Given the description of an element on the screen output the (x, y) to click on. 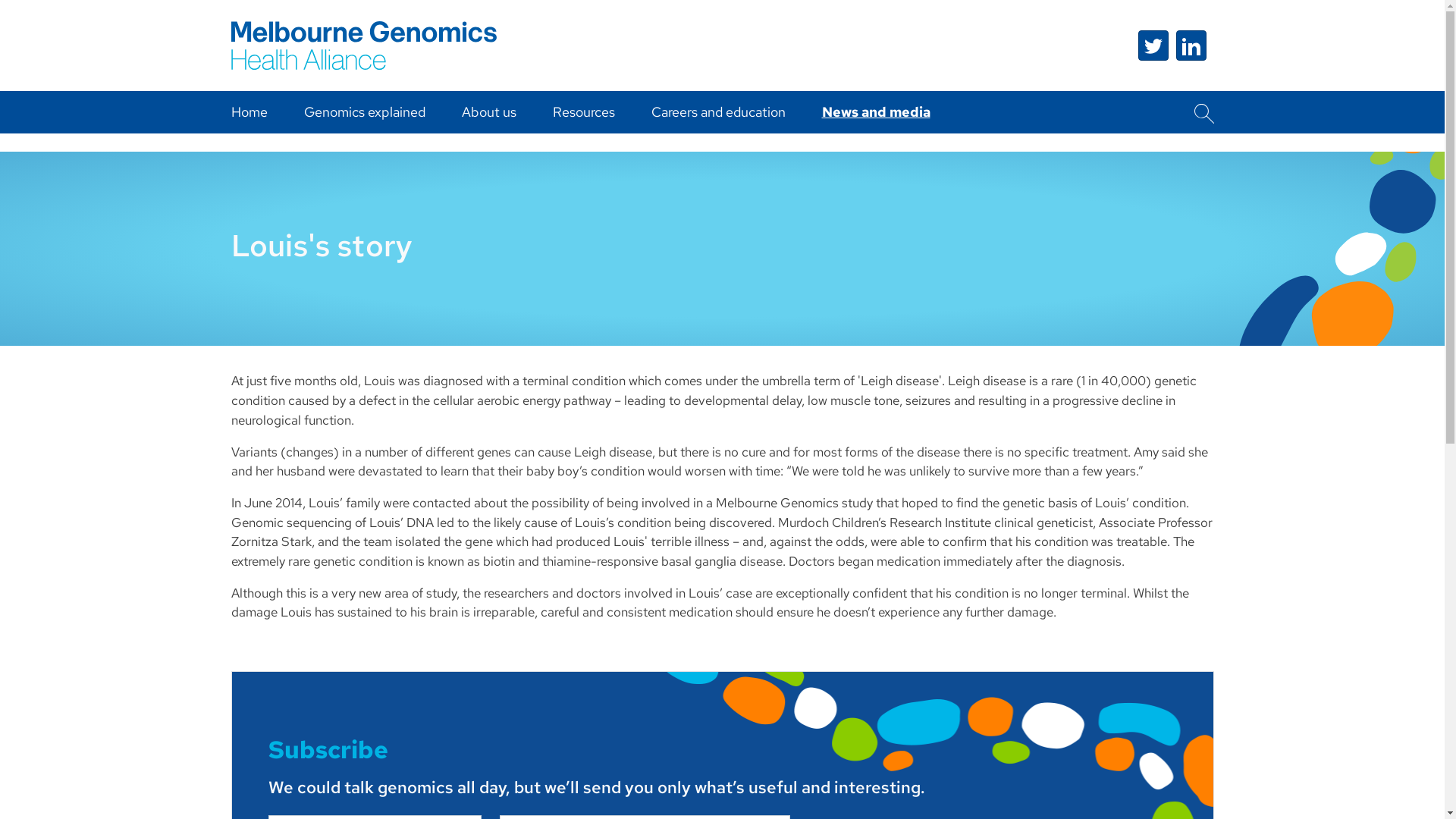
Resources Element type: text (583, 112)
Home Element type: hover (362, 17)
Home Element type: text (248, 112)
About us Element type: text (488, 112)
Careers and education Element type: text (717, 112)
Genomics explained Element type: text (363, 112)
News and media Element type: text (876, 112)
